Given the description of an element on the screen output the (x, y) to click on. 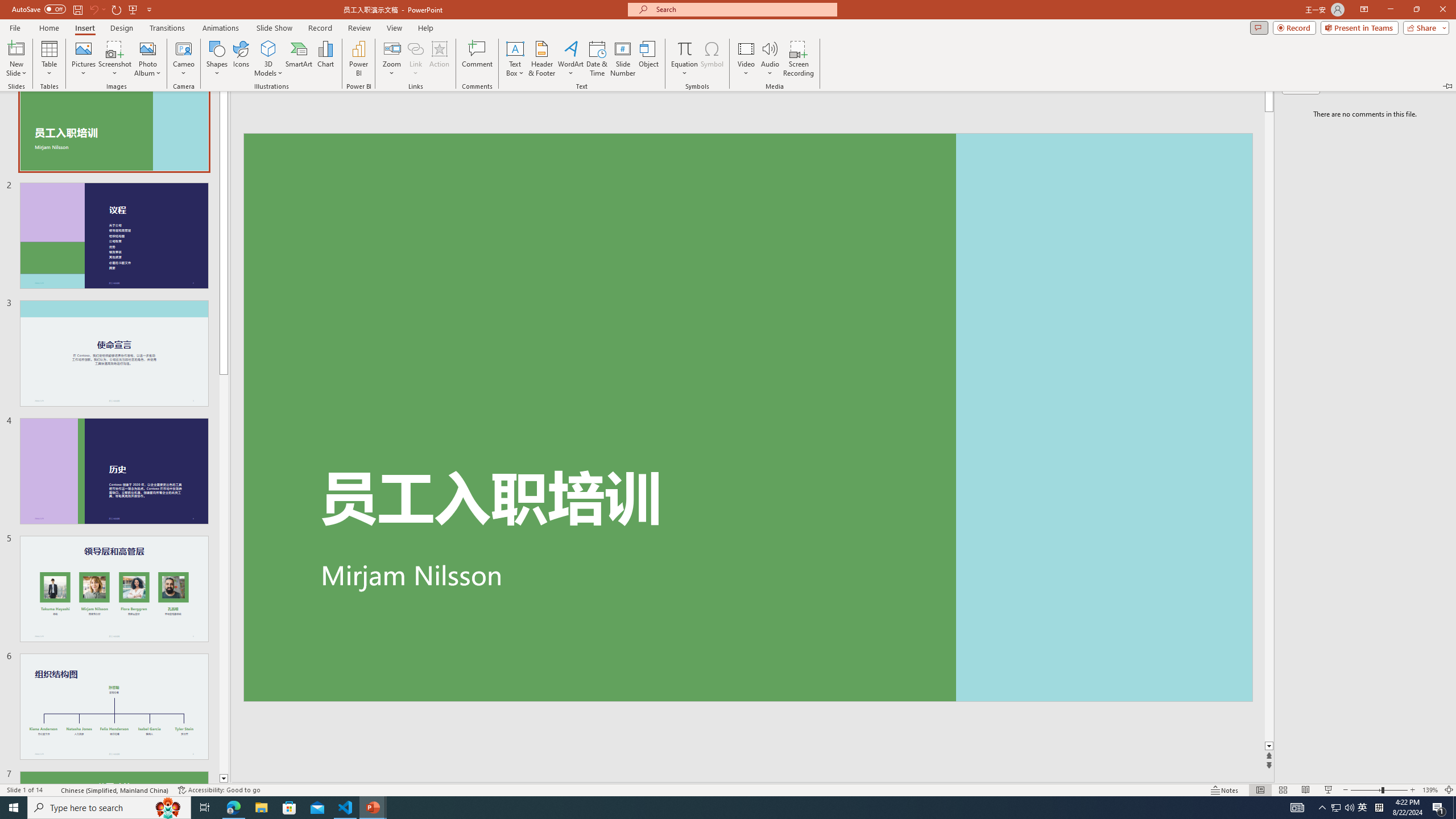
Row Down (1025, 92)
Styles... (1034, 128)
Font Color RGB(255, 0, 0) (317, 102)
Show/Hide Editing Marks (624, 77)
Multilevel List (483, 77)
